Given the description of an element on the screen output the (x, y) to click on. 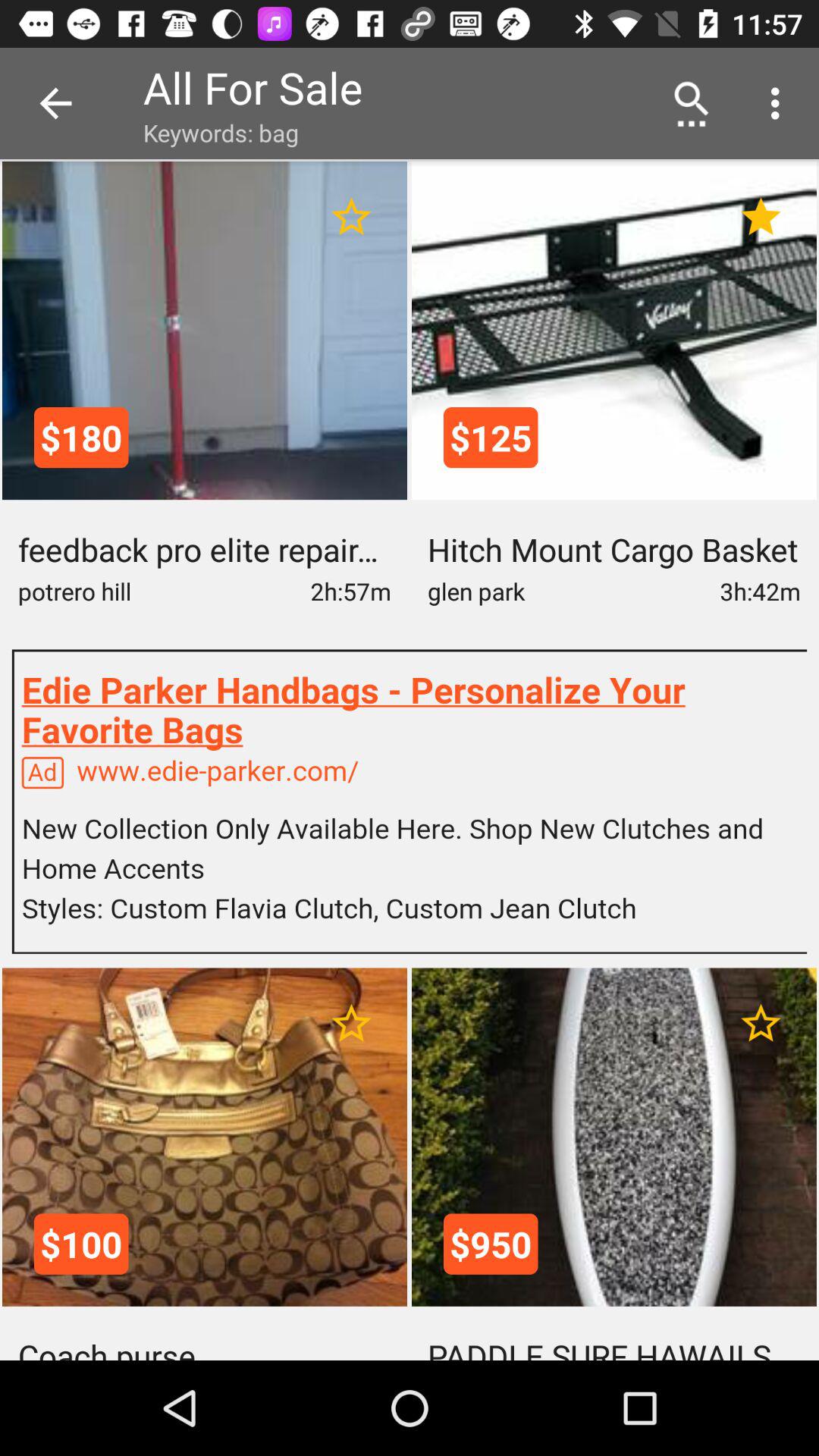
rate the order (351, 217)
